Given the description of an element on the screen output the (x, y) to click on. 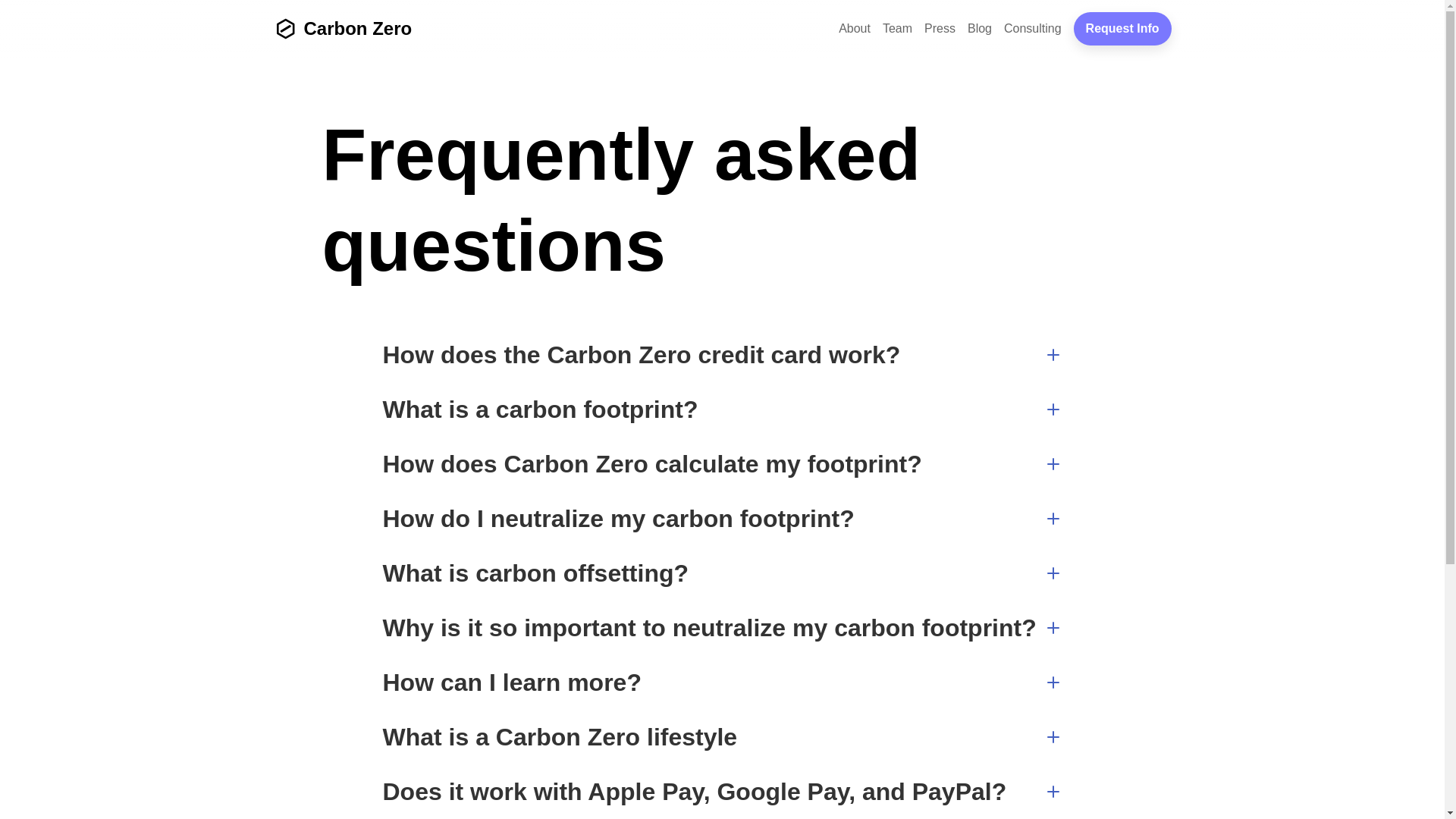
Press Element type: text (939, 28)
Blog Element type: text (979, 28)
Team Element type: text (897, 28)
Carbon Zero Element type: text (342, 28)
Consulting Element type: text (1032, 28)
About Element type: text (854, 28)
Request Info Element type: text (1122, 28)
